Given the description of an element on the screen output the (x, y) to click on. 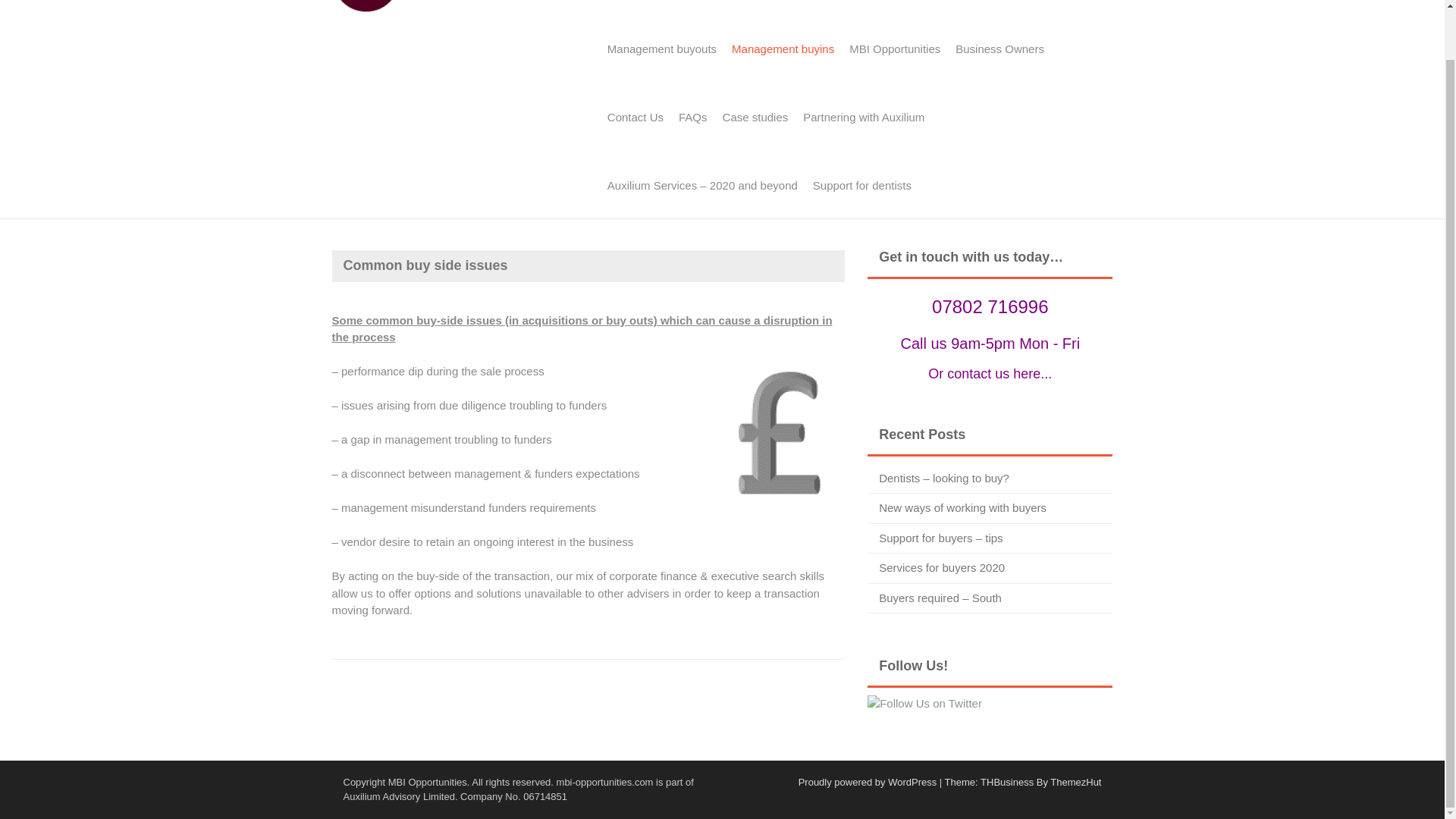
Business Owners (999, 49)
Partnering with Auxilium (862, 117)
Sourcing a target business to acquire (899, 7)
Case studies (755, 117)
Follow Us on Twitter (924, 703)
Management buyouts (661, 49)
New ways of working with buyers (962, 507)
MBI Opportunities (894, 49)
Support for dentists (861, 185)
Services for buyers 2020 (941, 567)
